Given the description of an element on the screen output the (x, y) to click on. 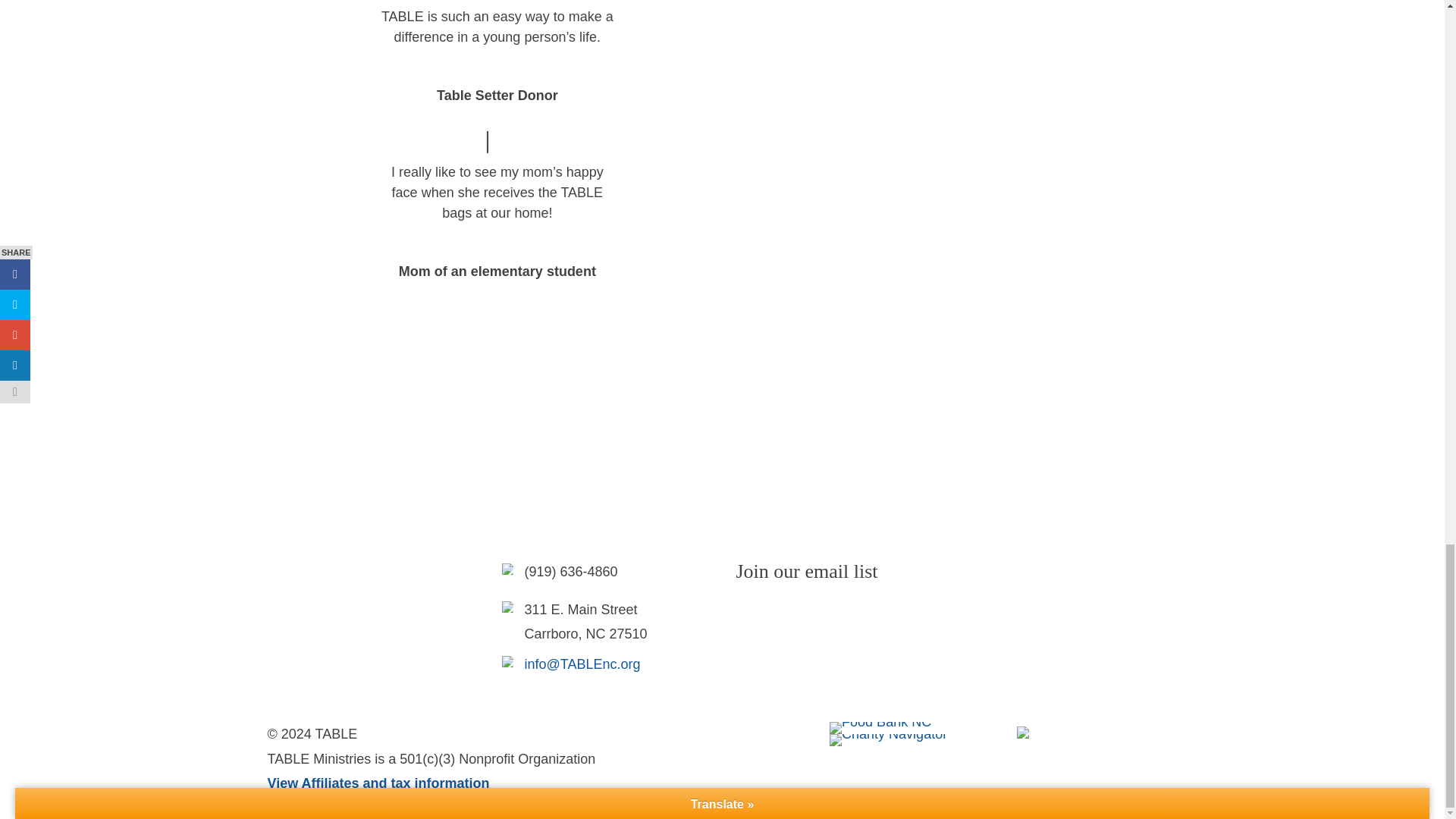
Follow on Facebook (747, 616)
Follow on Instagram (777, 616)
